Given the description of an element on the screen output the (x, y) to click on. 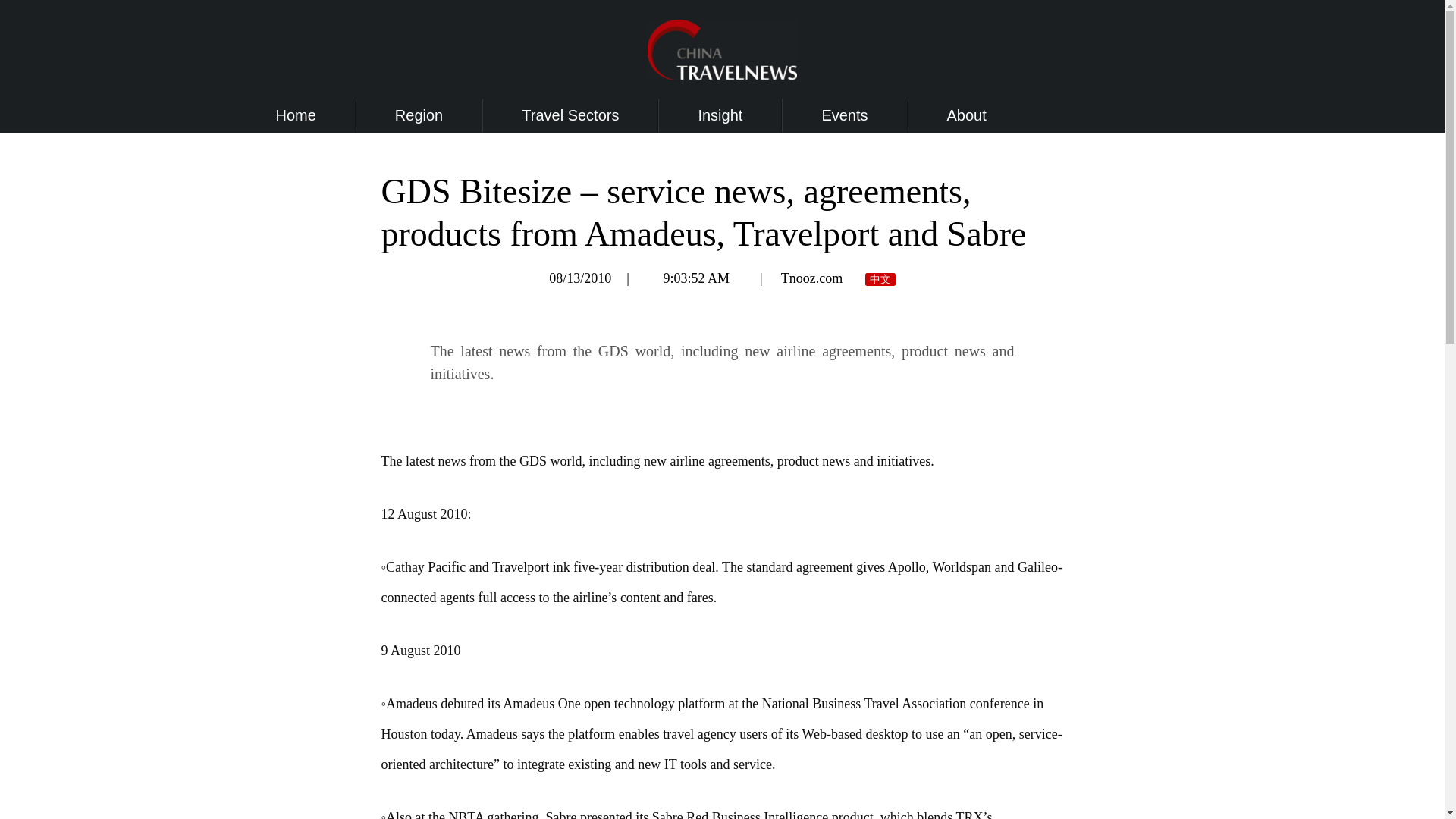
Home (295, 115)
About (967, 115)
Events (844, 115)
